Given the description of an element on the screen output the (x, y) to click on. 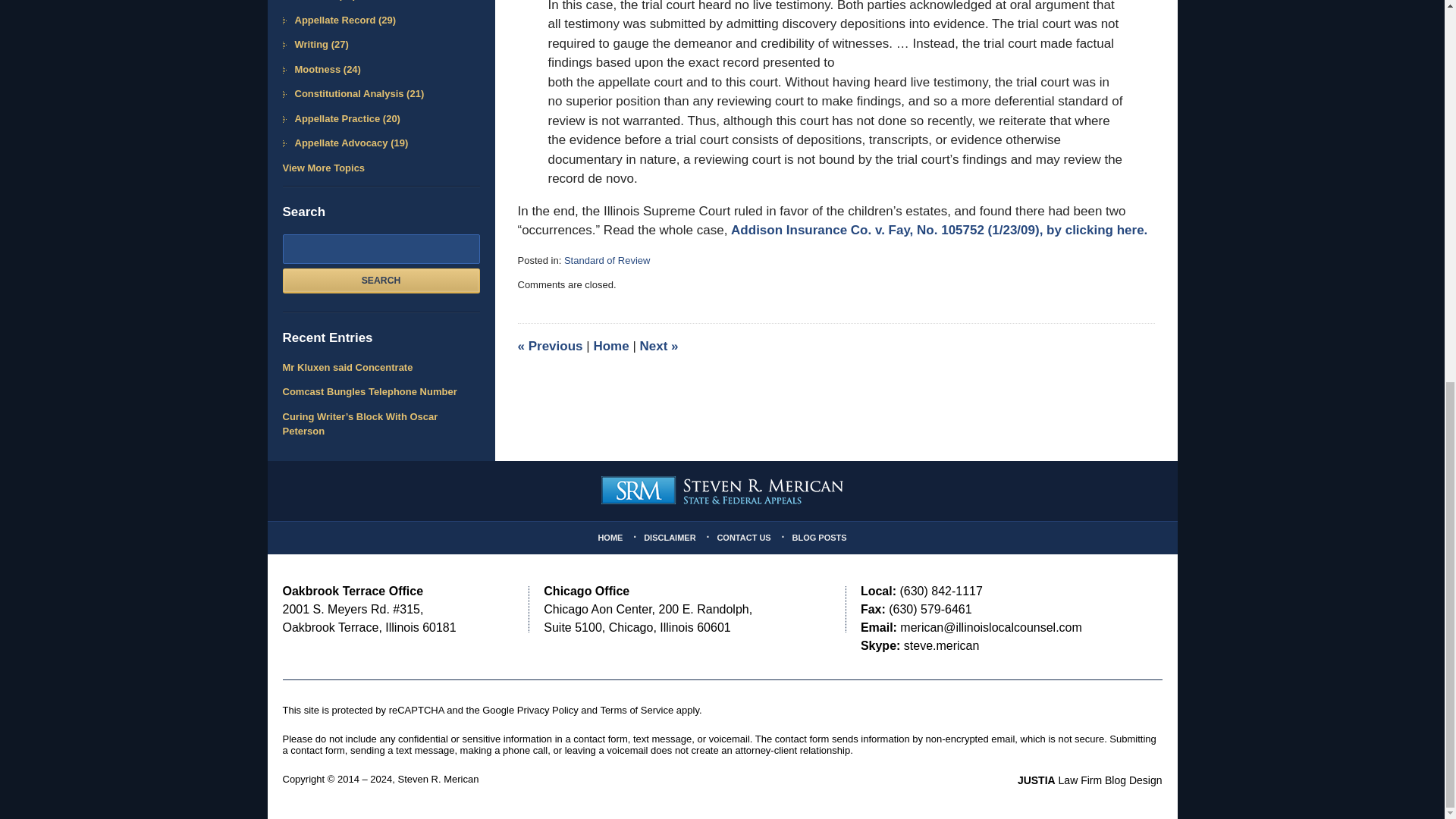
SEARCH (380, 280)
View More Topics (380, 168)
Home (610, 345)
View all posts in Standard of Review (606, 260)
Standard of Review (606, 260)
Mr Kluxen said Concentrate (380, 367)
Comcast Bungles Telephone Number (380, 391)
